Given the description of an element on the screen output the (x, y) to click on. 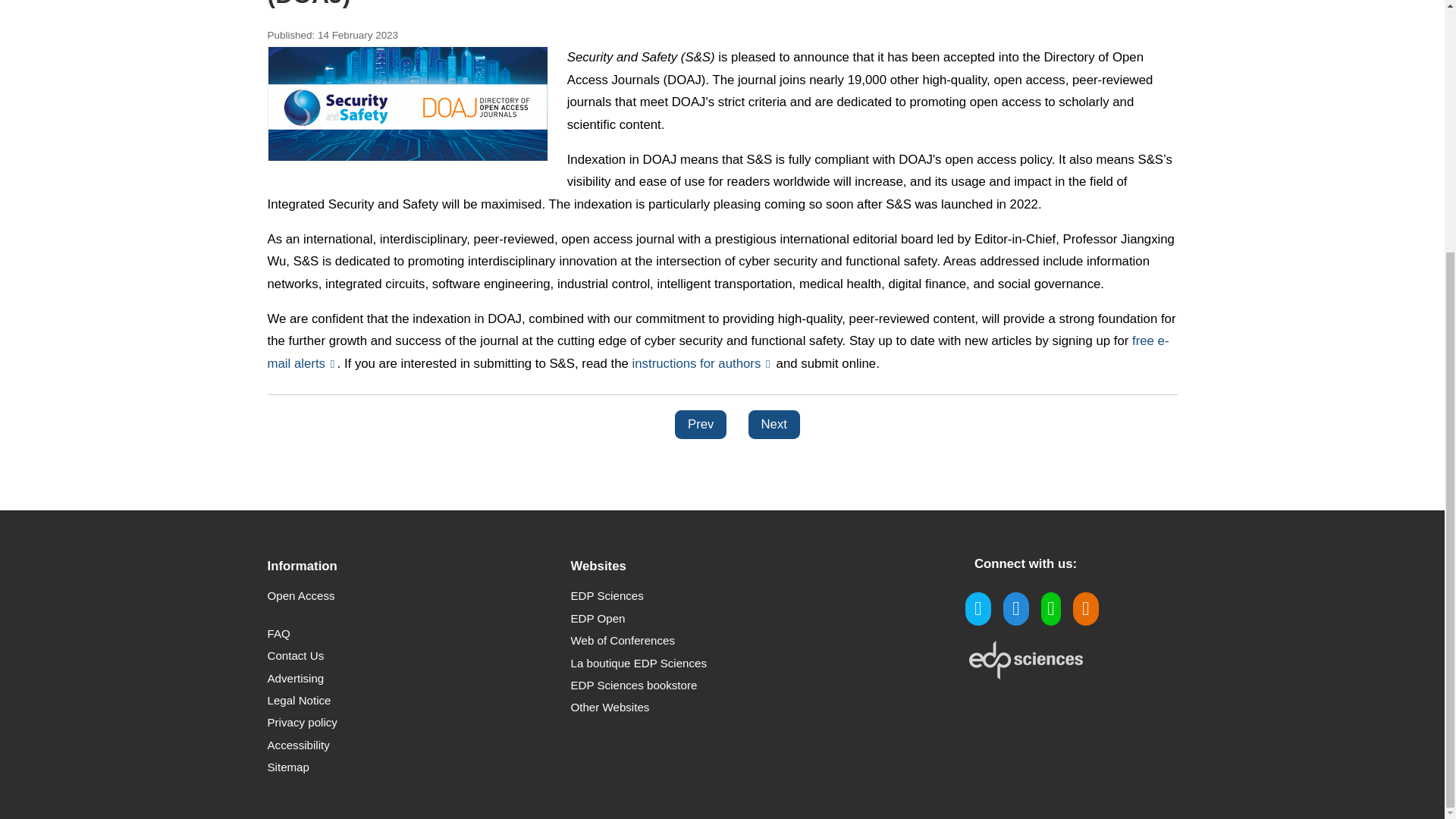
Access our RSS feeds (1078, 610)
EDP Sciences homepage (1026, 674)
Follow us on twitter (971, 610)
Follow us on LinkedIn (1008, 610)
Connect with us on WeChat (1043, 610)
